Given the description of an element on the screen output the (x, y) to click on. 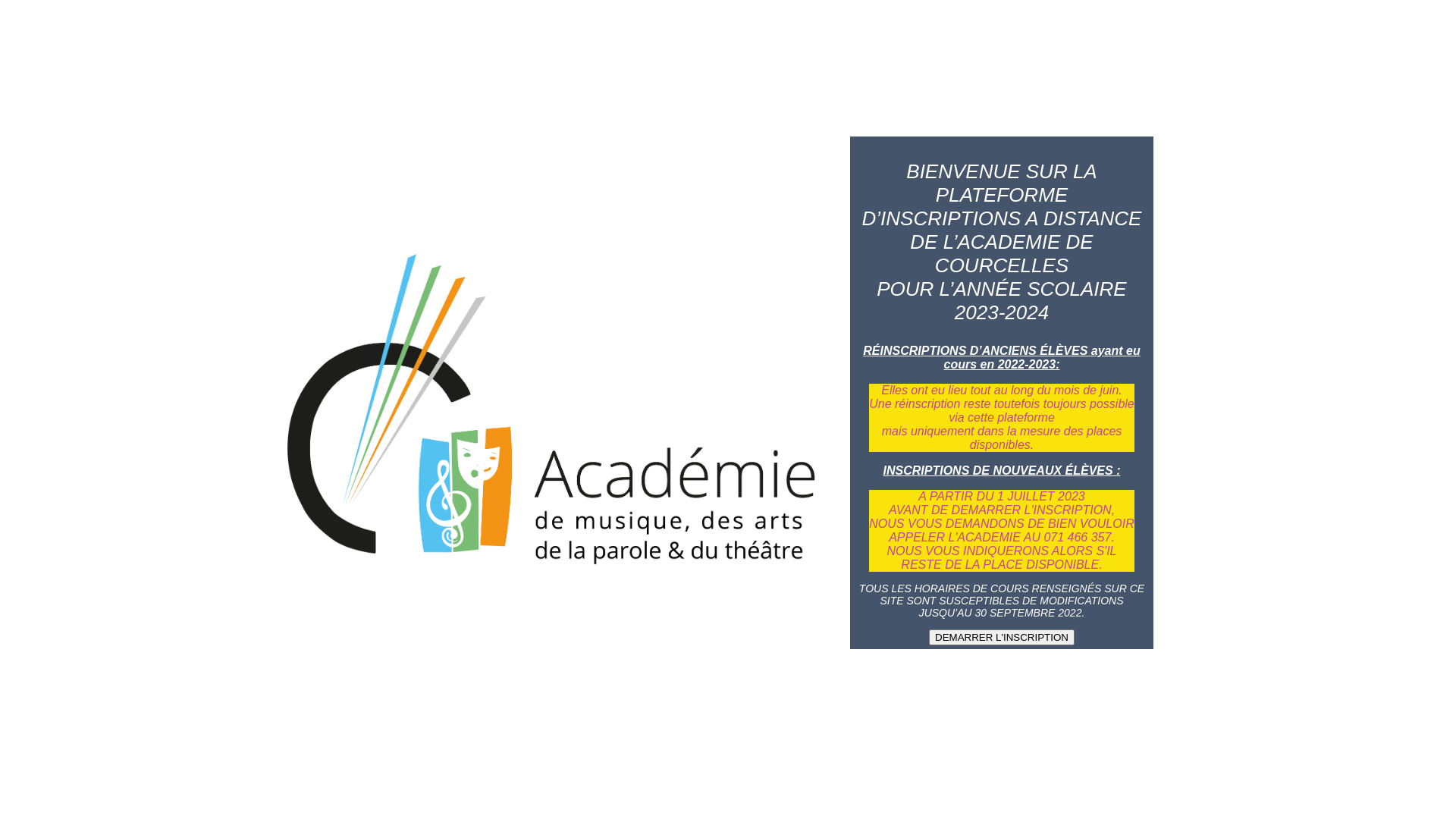
DEMARRER L'INSCRIPTION Element type: text (1001, 637)
